Given the description of an element on the screen output the (x, y) to click on. 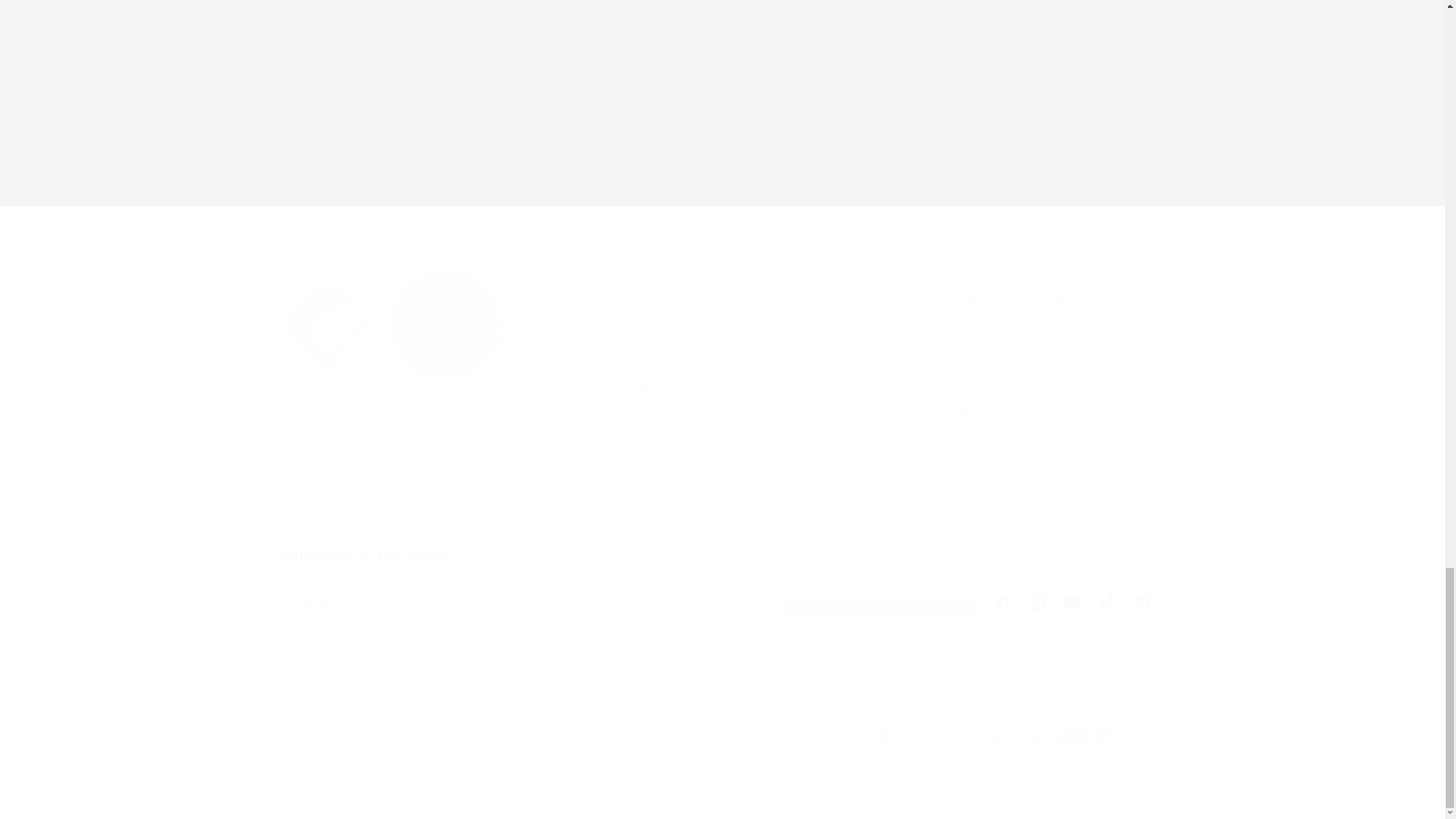
Post comment (499, 172)
